Given the description of an element on the screen output the (x, y) to click on. 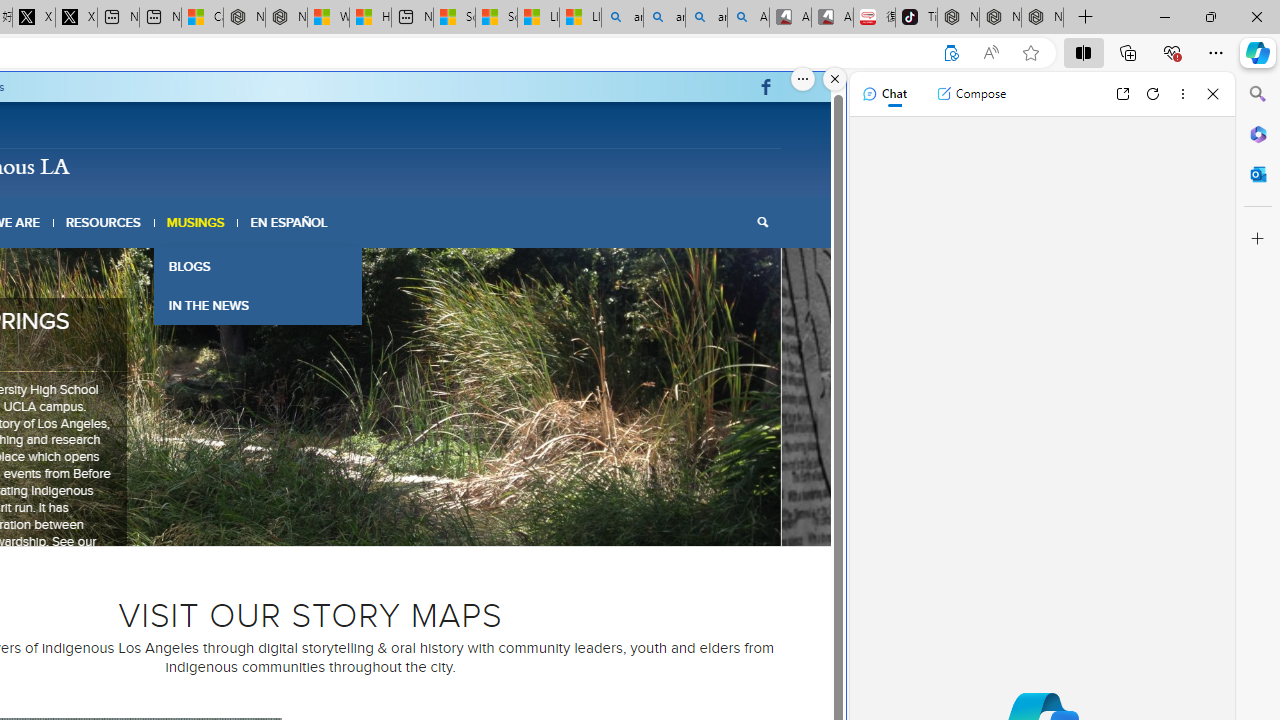
Compose (971, 93)
3 (286, 520)
Support THE UCLA FOUNDATION? (950, 53)
Amazon Echo Robot - Search Images (748, 17)
amazon - Search (663, 17)
IN THE NEWS (257, 304)
More options. (803, 79)
Outlook (1258, 174)
7 (350, 520)
